Given the description of an element on the screen output the (x, y) to click on. 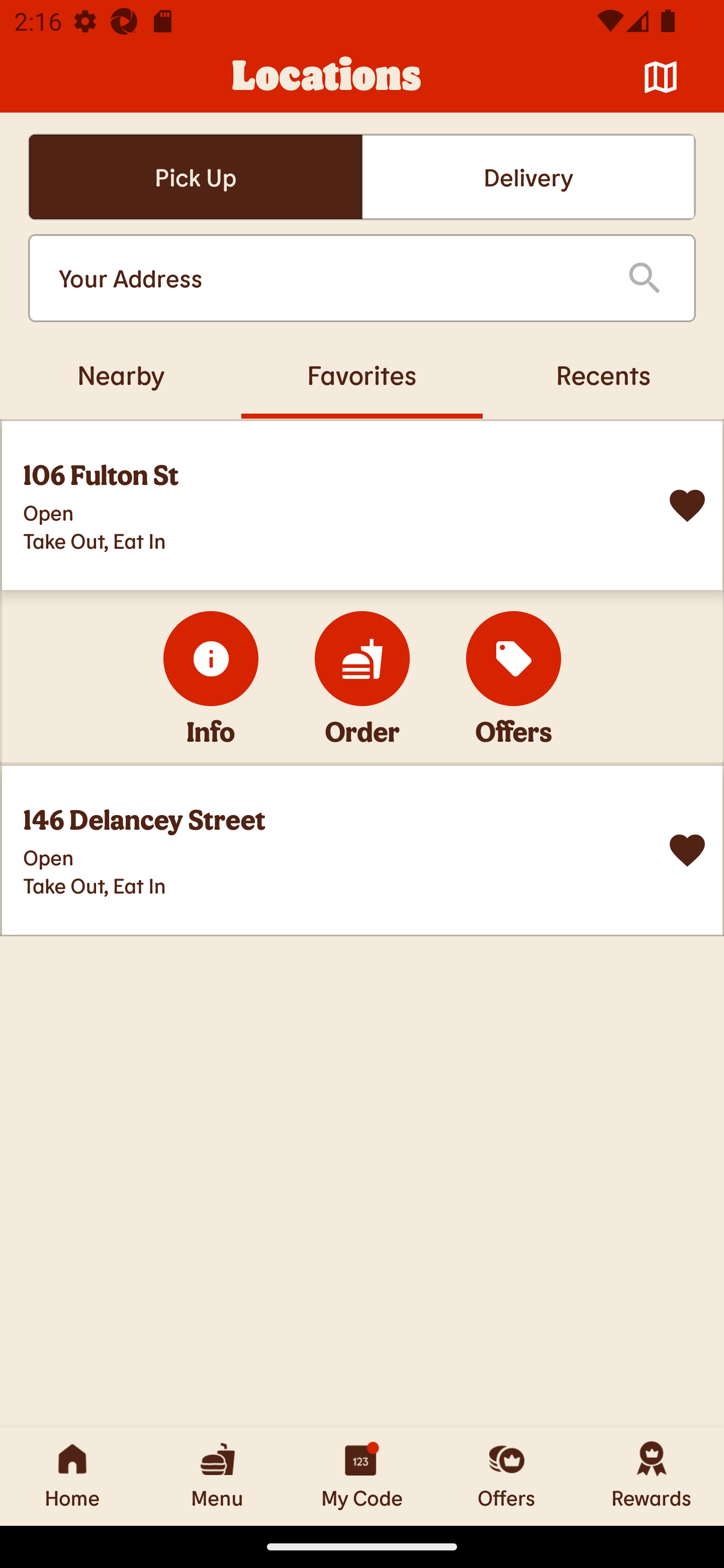
Map 󰦂 (660, 77)
Locations (326, 77)
Pick UpSelected Pick UpSelected Pick Up (195, 176)
Delivery Delivery Delivery (528, 176)
Your Address (327, 277)
Nearby (120, 374)
Favorites (361, 374)
Recents (603, 374)
Remove from Favorites?  (687, 505)
Info  (210, 658)
Order (361, 658)
Offers  (513, 658)
Remove from Favorites?  (687, 850)
Home (72, 1475)
Menu (216, 1475)
My Code (361, 1475)
Offers (506, 1475)
Rewards (651, 1475)
